Given the description of an element on the screen output the (x, y) to click on. 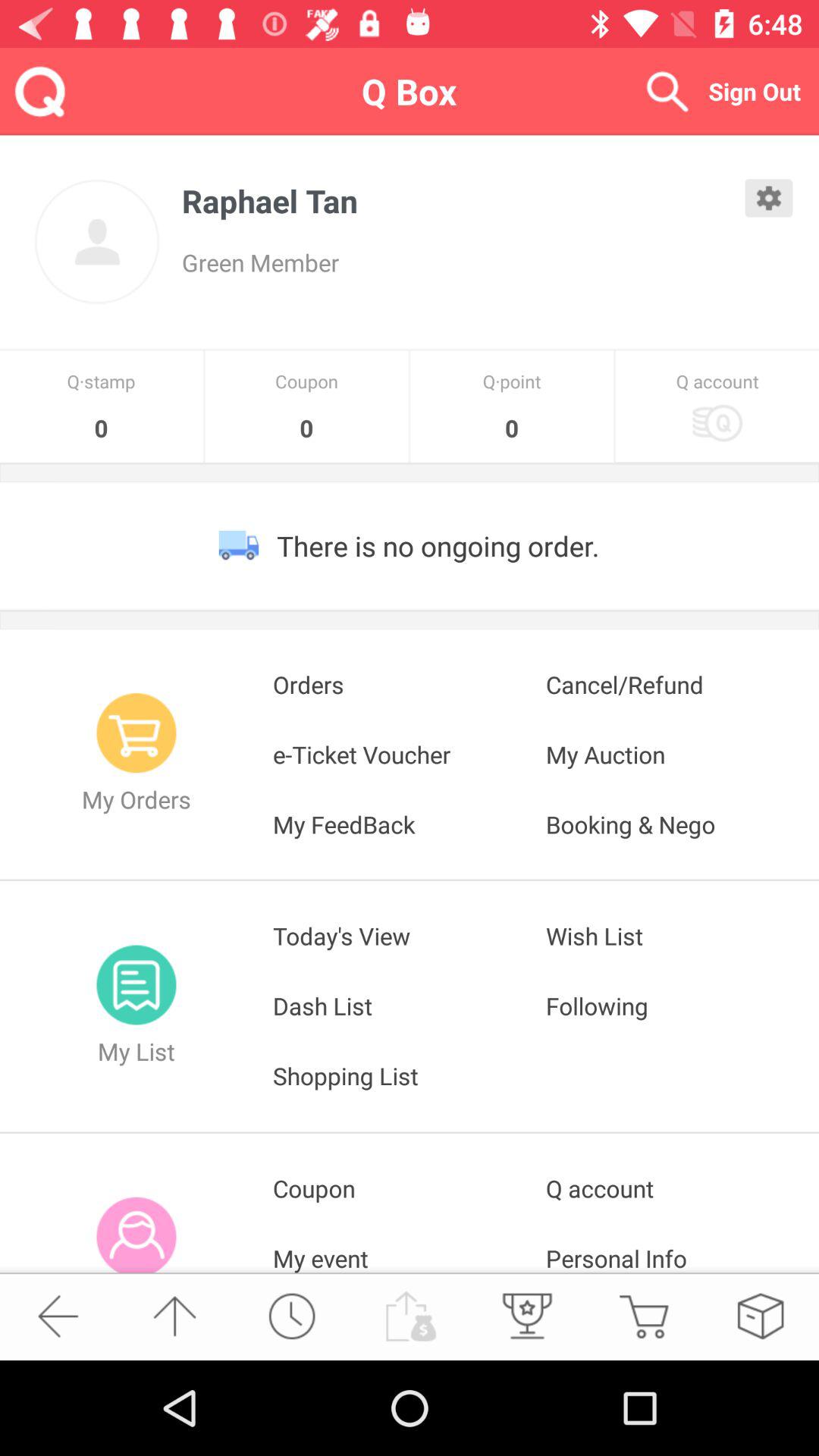
turn on the item below the my event app (525, 1316)
